Given the description of an element on the screen output the (x, y) to click on. 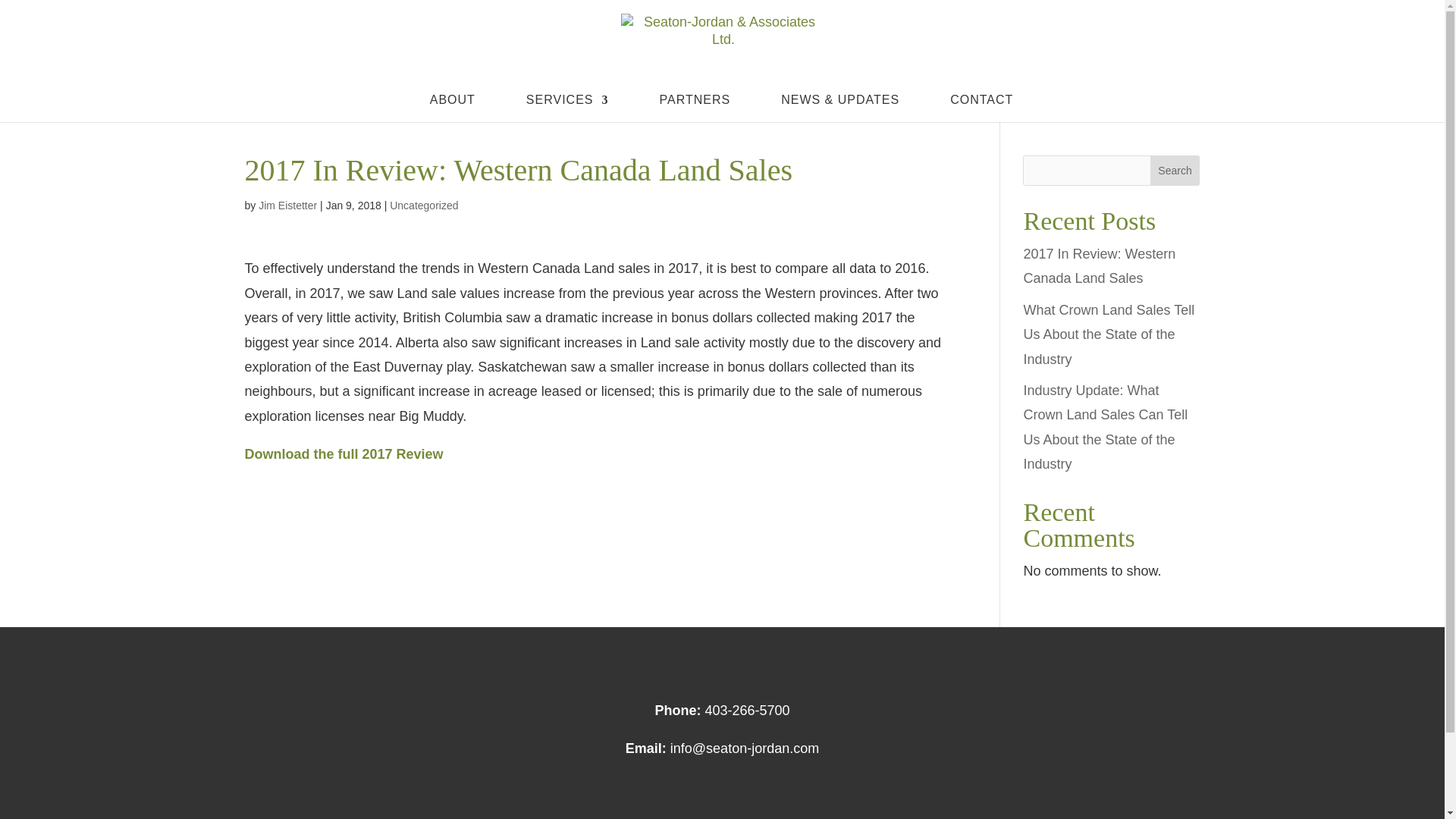
PARTNERS (694, 108)
Download the full 2017 Review (343, 453)
Jim Eistetter (288, 205)
ABOUT (452, 108)
CONTACT (981, 108)
SERVICES (566, 108)
Posts by Jim Eistetter (288, 205)
Search (1174, 170)
